Given the description of an element on the screen output the (x, y) to click on. 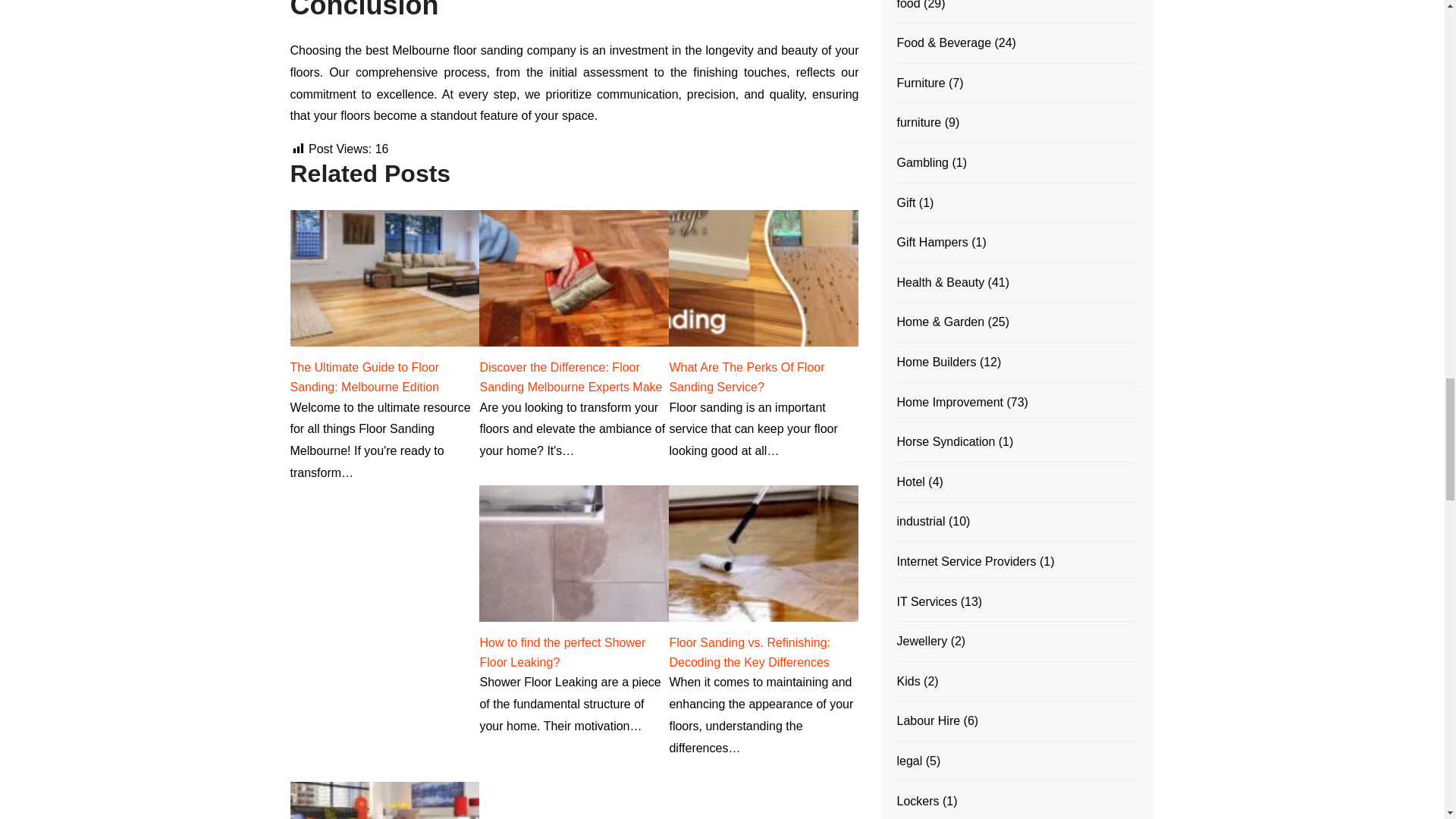
Home Improvement (949, 402)
Gambling (921, 162)
The Ultimate Guide to Floor Sanding: Melbourne Edition (364, 377)
IT Services (926, 601)
